Given the description of an element on the screen output the (x, y) to click on. 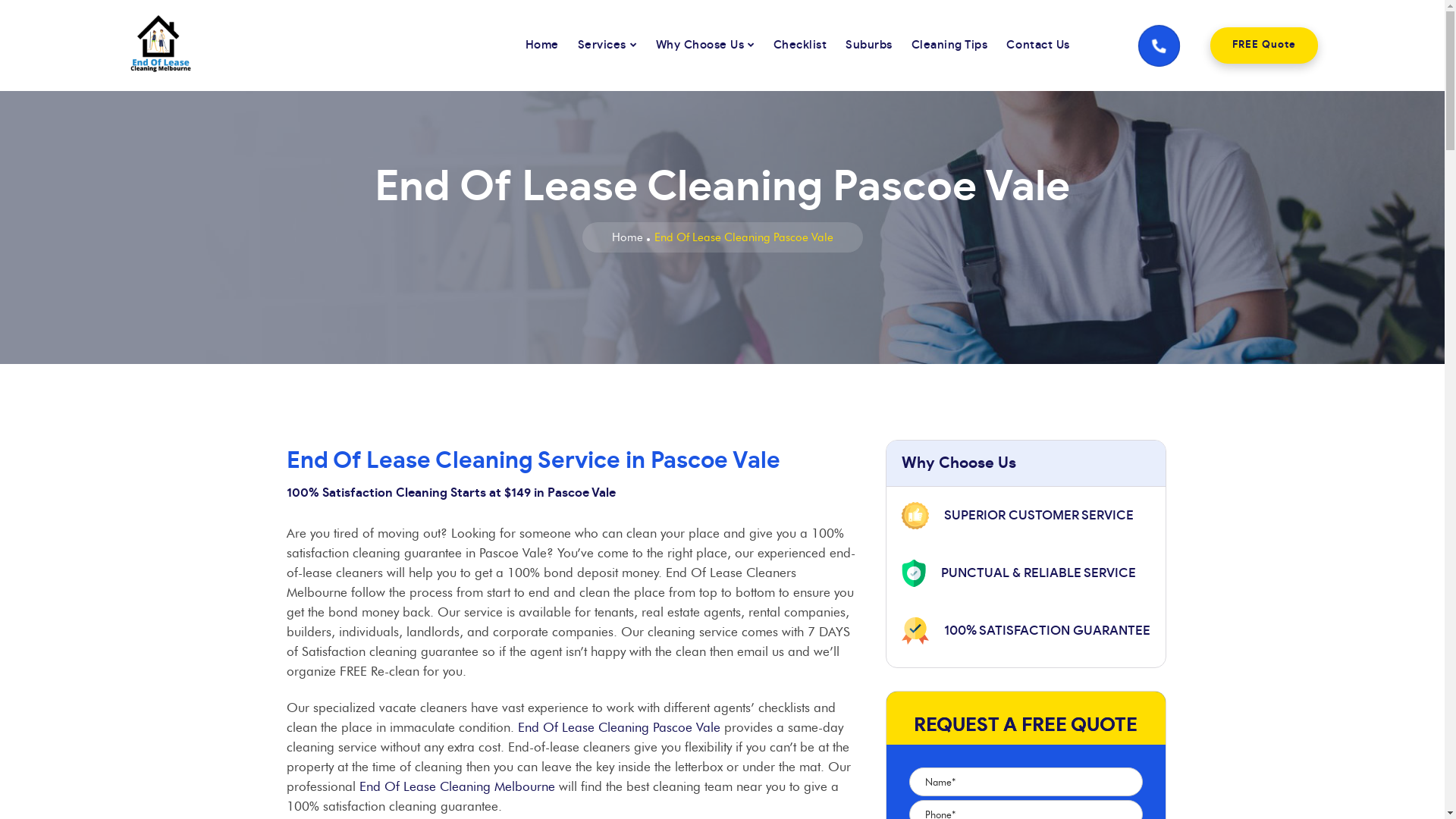
Suburbs Element type: text (868, 44)
Home Element type: text (541, 44)
Checklist Element type: text (800, 44)
Services Element type: text (607, 45)
Contact Us Element type: text (1037, 44)
Home Element type: text (626, 237)
FREE Quote Element type: text (1263, 45)
End Of Lease Cleaning Pascoe Vale Element type: text (618, 726)
Why Choose Us Element type: text (704, 45)
End Of Lease Cleaning Melbourne Element type: hover (145, 45)
Cleaning Tips Element type: text (949, 44)
End Of Lease Cleaning Melbourne Element type: text (457, 785)
